Given the description of an element on the screen output the (x, y) to click on. 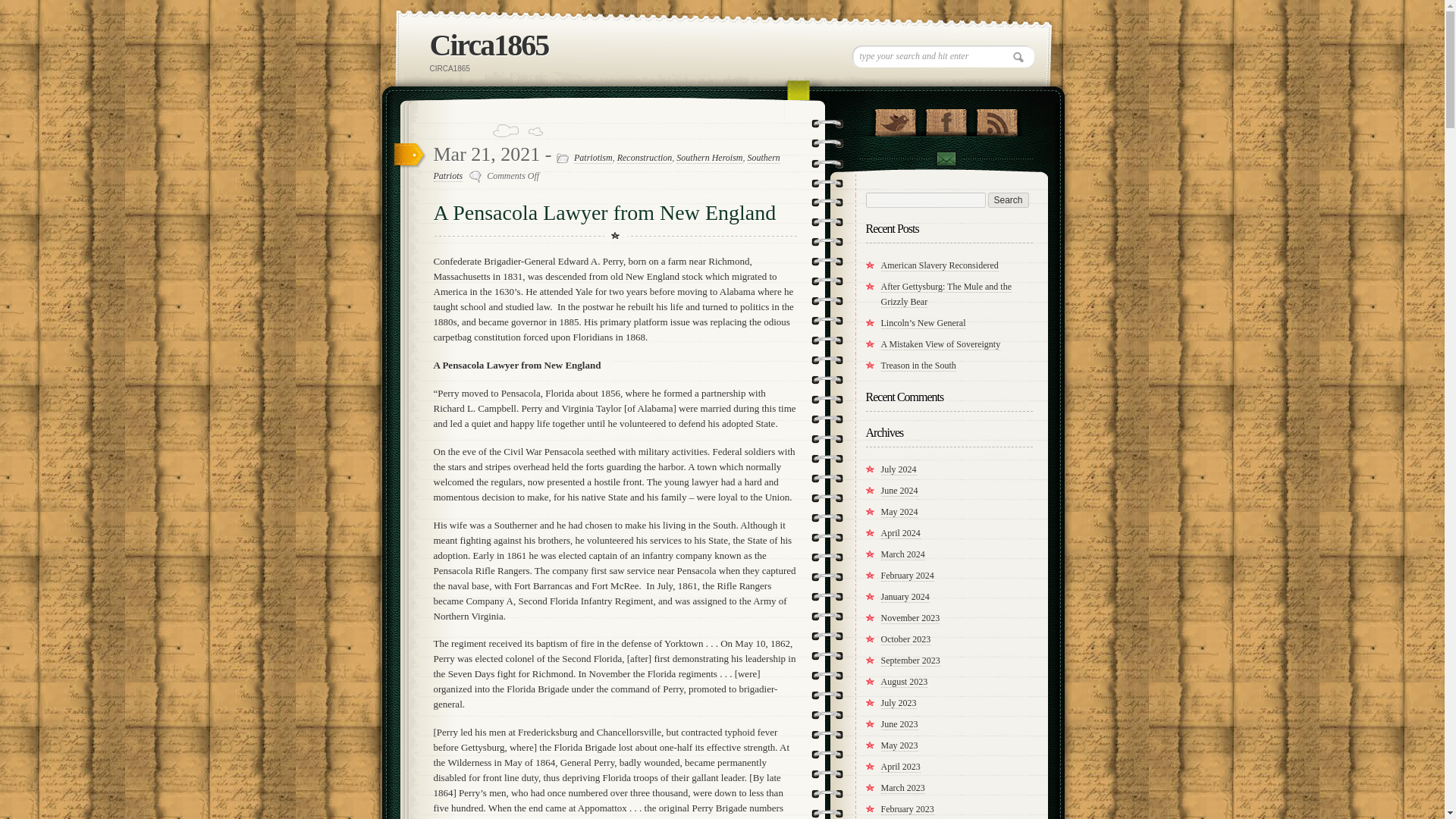
Patriotism (592, 157)
Search (1007, 200)
August 2023 (904, 681)
February 2023 (907, 808)
RSS (996, 118)
Join Us on Facebook! (945, 118)
Follow Us on Twitter! (894, 118)
September 2023 (910, 660)
July 2024 (898, 469)
American Slavery Reconsidered (939, 265)
"Join Us on Facebook! (945, 118)
After Gettysburg: The Mule and the Grizzly Bear (945, 294)
type your search and hit enter (942, 56)
Reconstruction (644, 157)
Treason in the South (918, 365)
